Given the description of an element on the screen output the (x, y) to click on. 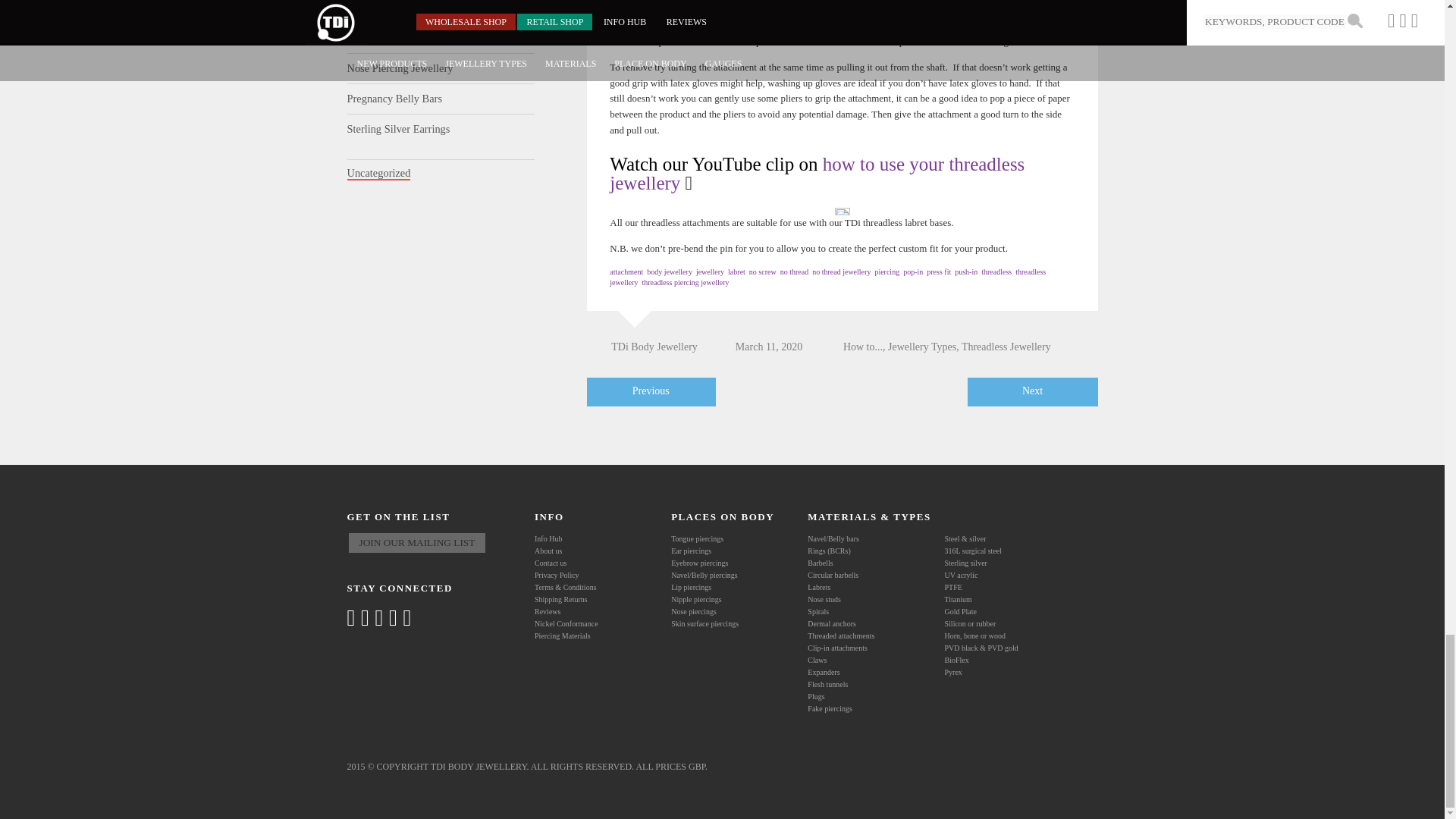
March 11, 2020 (758, 346)
TDi Body Jewellery (642, 347)
Join our Mailing List (417, 542)
how to use your threadless jewellery (817, 173)
How to... (862, 346)
Jewellery Types (922, 346)
Threadless Jewellery (1005, 346)
